Given the description of an element on the screen output the (x, y) to click on. 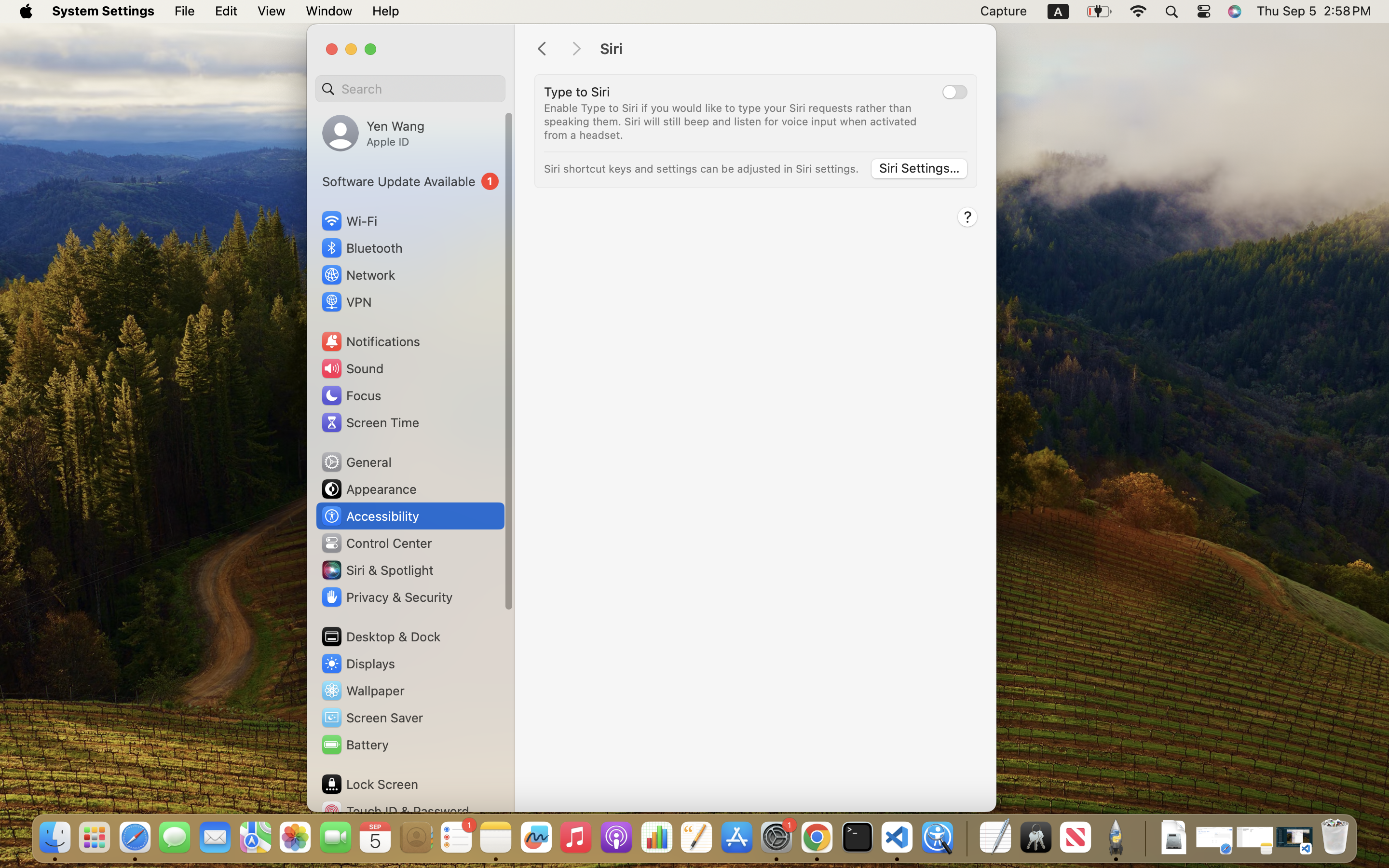
Screen Time Element type: AXStaticText (369, 422)
Desktop & Dock Element type: AXStaticText (380, 636)
Displays Element type: AXStaticText (357, 663)
Screen Saver Element type: AXStaticText (371, 717)
